Given the description of an element on the screen output the (x, y) to click on. 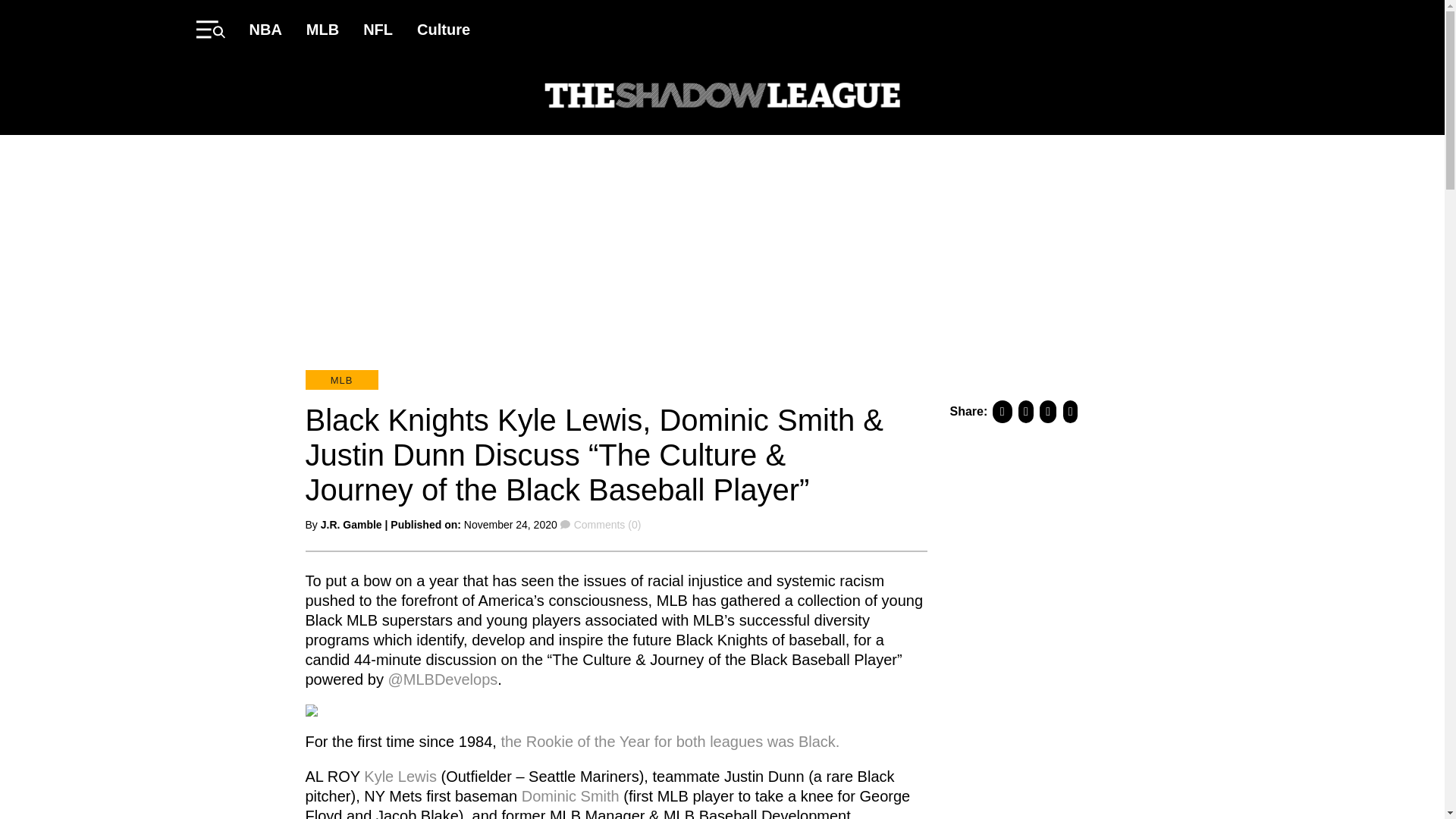
NBA (264, 29)
the Rookie of the Year for both leagues was Black. (670, 740)
NFL (377, 29)
MLB (322, 29)
MLB (340, 379)
Culture (443, 29)
Kyle Lewis (400, 775)
J.R. Gamble (350, 524)
Dominic Smith (570, 795)
The Shadow League (721, 96)
